Given the description of an element on the screen output the (x, y) to click on. 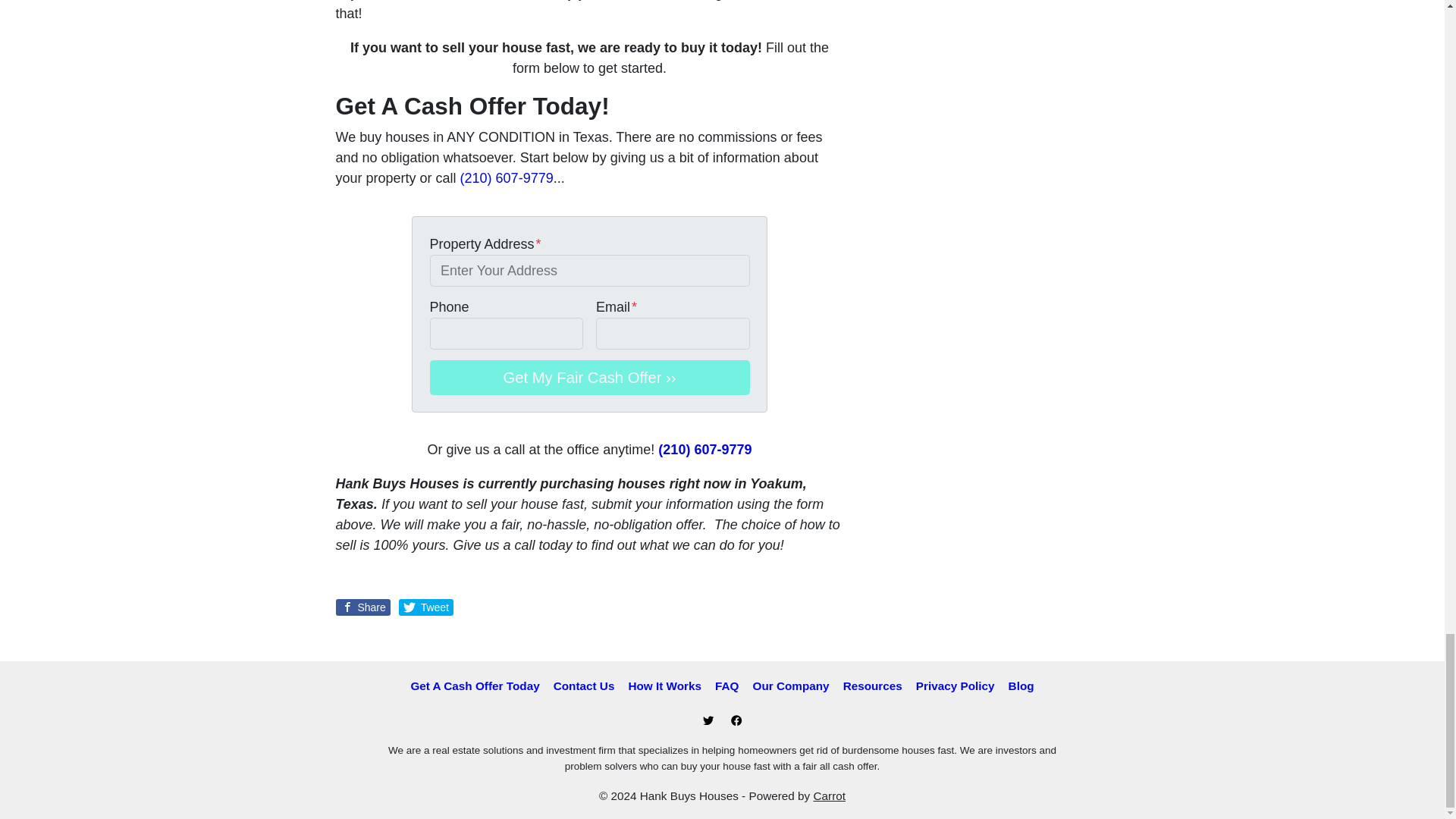
Share on Twitter (425, 606)
Tweet (425, 606)
Share (362, 606)
Get A Cash Offer Today (474, 685)
Share on Facebook (362, 606)
